Given the description of an element on the screen output the (x, y) to click on. 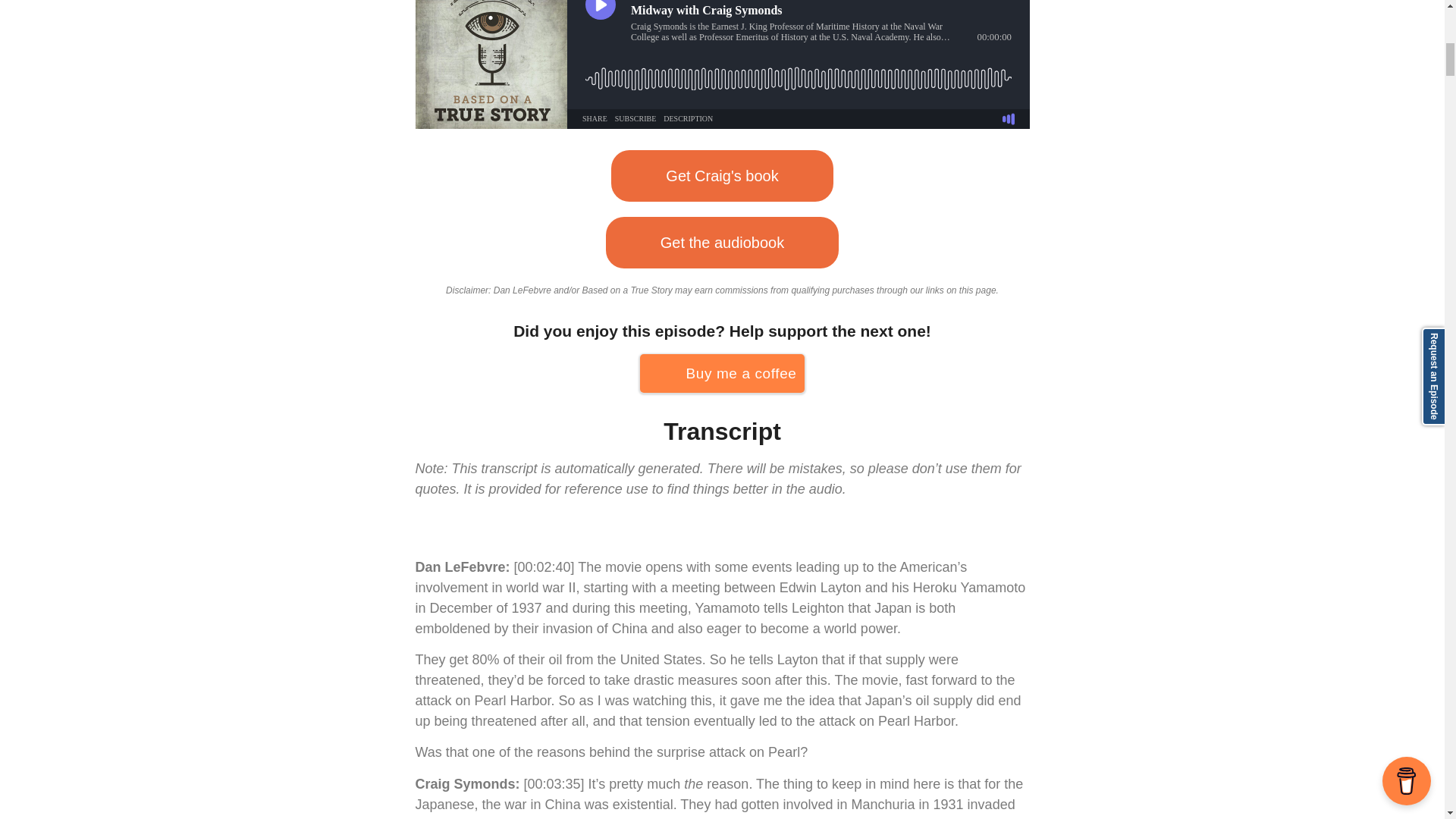
Get Craig's book (721, 175)
Get the audiobook (721, 242)
Buy me a coffee (722, 373)
